Given the description of an element on the screen output the (x, y) to click on. 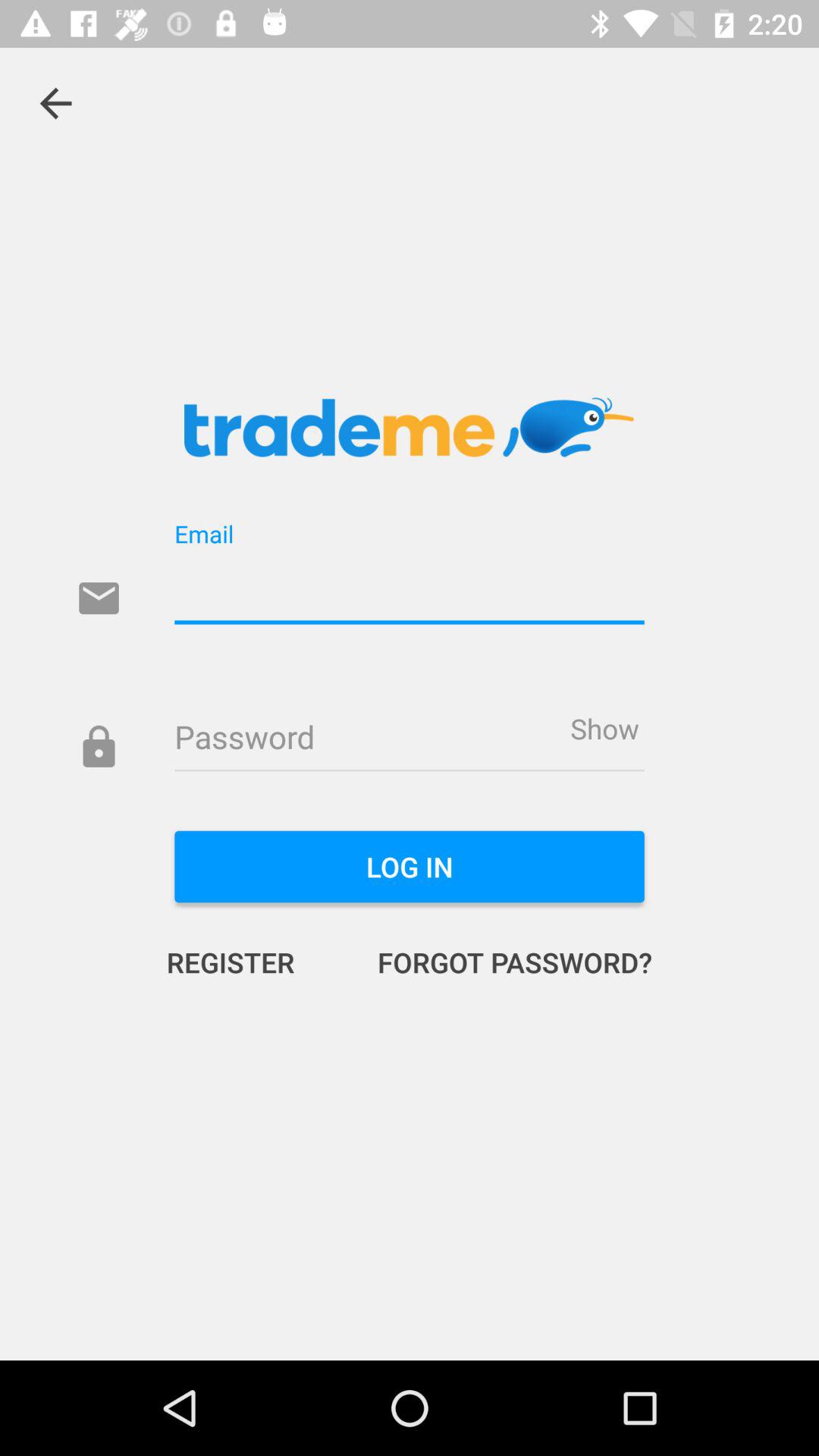
scroll until the log in icon (409, 866)
